Given the description of an element on the screen output the (x, y) to click on. 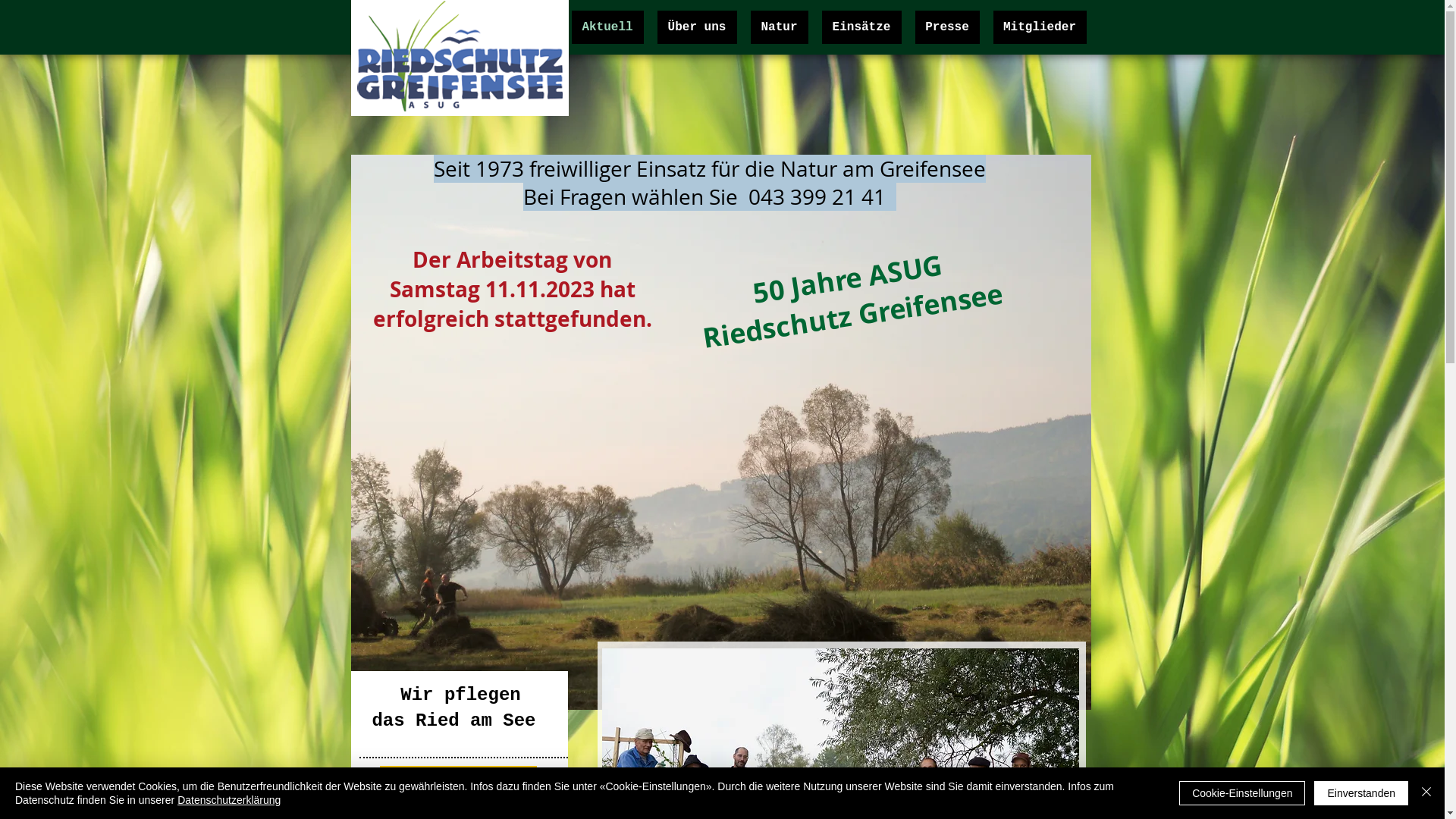
Cookie-Einstellungen Element type: text (1242, 793)
Aktuell Element type: text (607, 26)
Natur Element type: text (779, 26)
Presse Element type: text (946, 26)
Einverstanden Element type: text (1361, 793)
Mitglieder Element type: text (1039, 26)
